Given the description of an element on the screen output the (x, y) to click on. 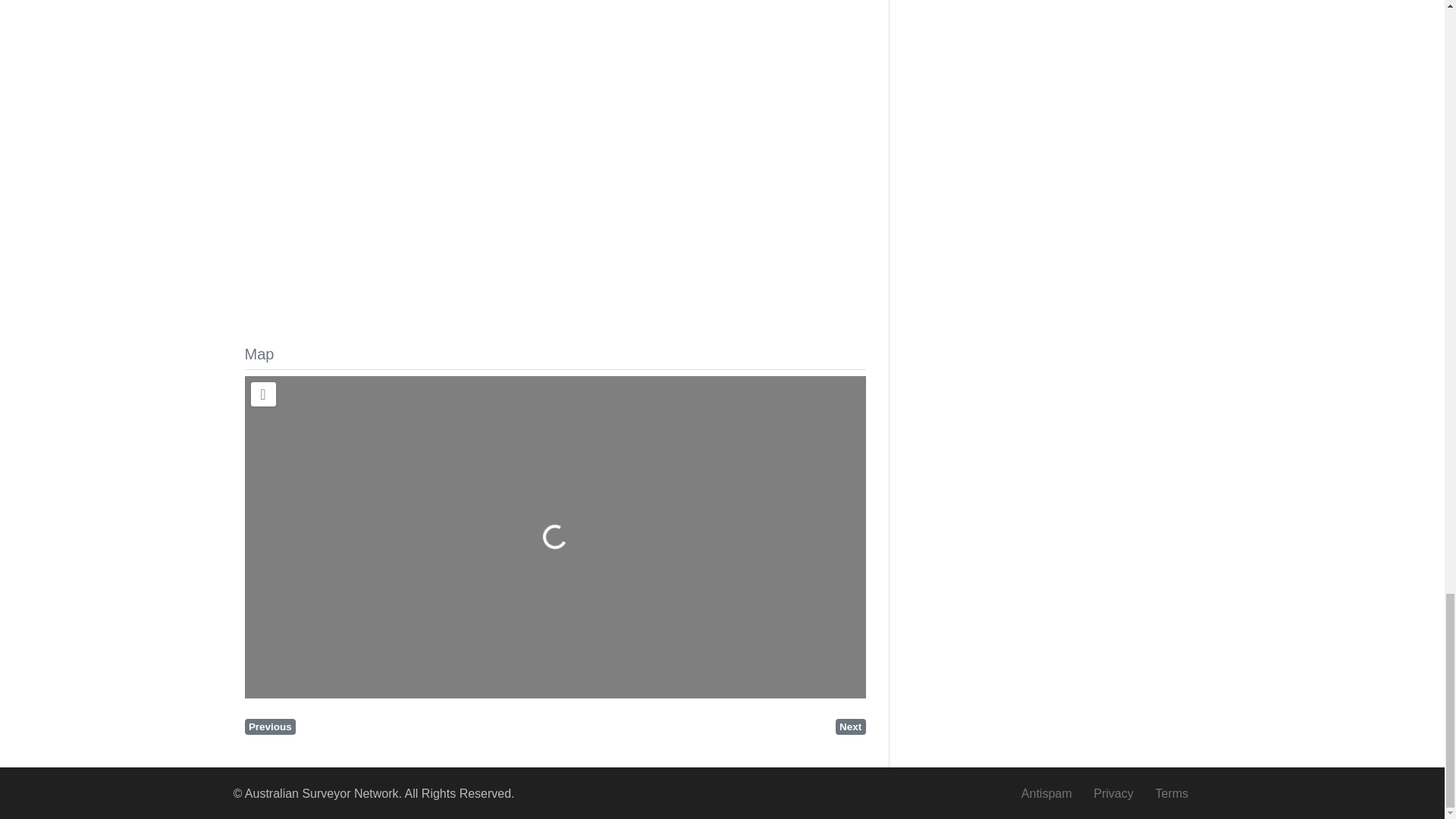
Next (850, 726)
Previous (269, 726)
Antispam (1045, 793)
Privacy (1113, 793)
